Given the description of an element on the screen output the (x, y) to click on. 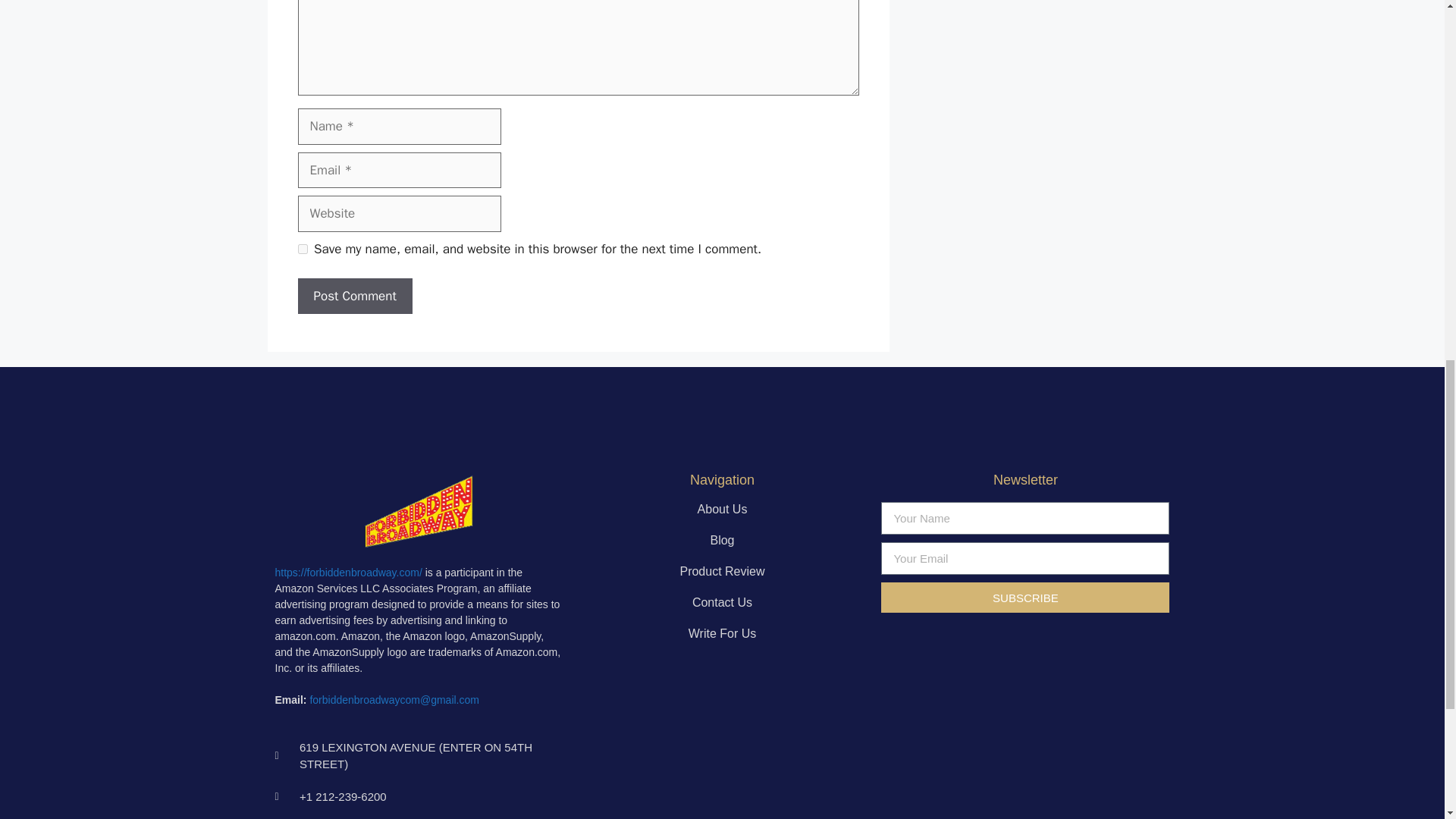
yes (302, 248)
Post Comment (354, 296)
Scroll back to top (1406, 720)
